Given the description of an element on the screen output the (x, y) to click on. 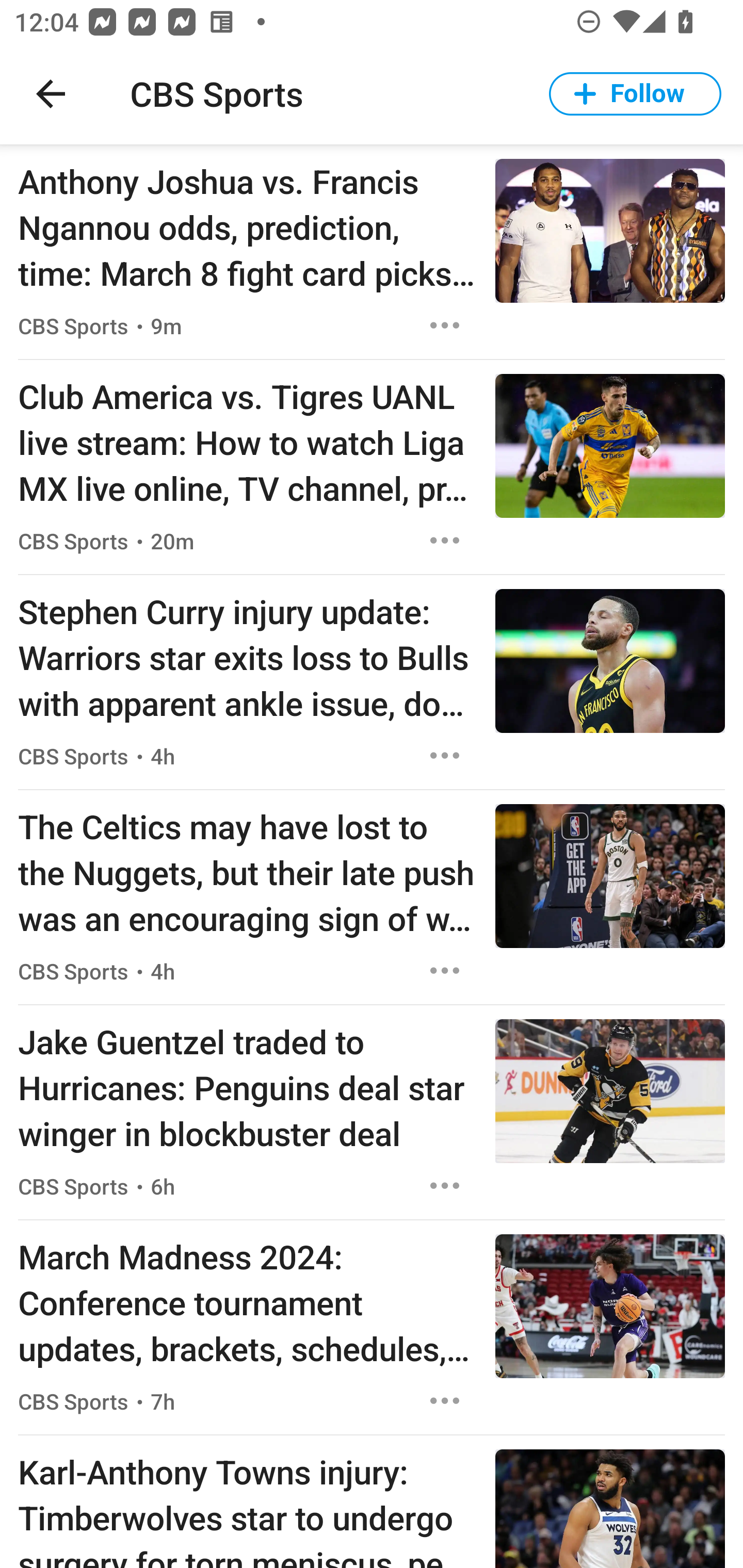
Navigate up (50, 93)
Follow (635, 94)
Options (444, 325)
Options (444, 540)
Options (444, 755)
Options (444, 970)
Options (444, 1185)
Options (444, 1400)
